Given the description of an element on the screen output the (x, y) to click on. 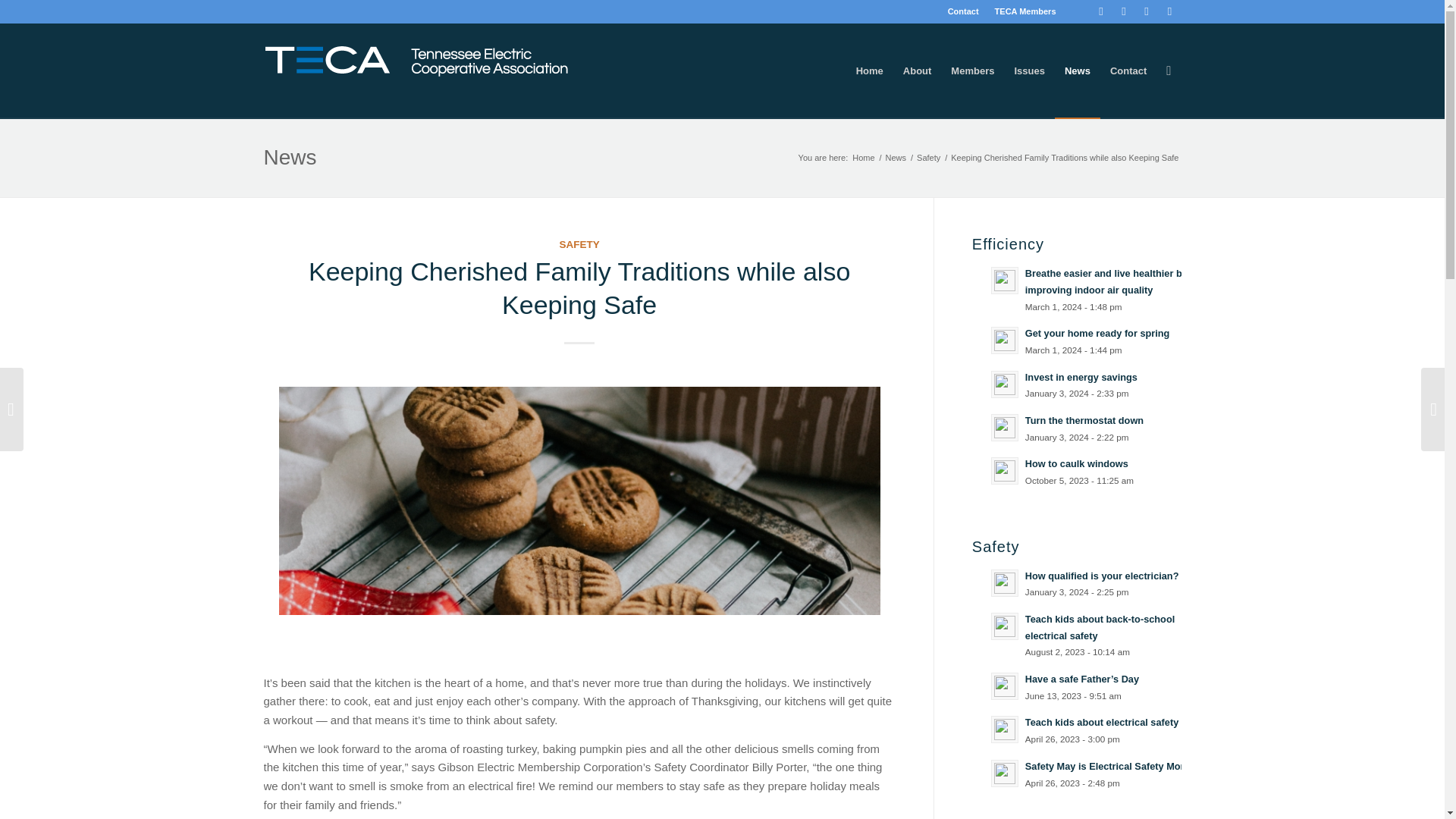
TECA Members (1025, 11)
Safety (928, 157)
Twitter (1124, 11)
Home (863, 157)
Facebook (1101, 11)
TECA-logo-full-light (416, 61)
Permanent Link: News (290, 156)
Contact (962, 11)
